Given the description of an element on the screen output the (x, y) to click on. 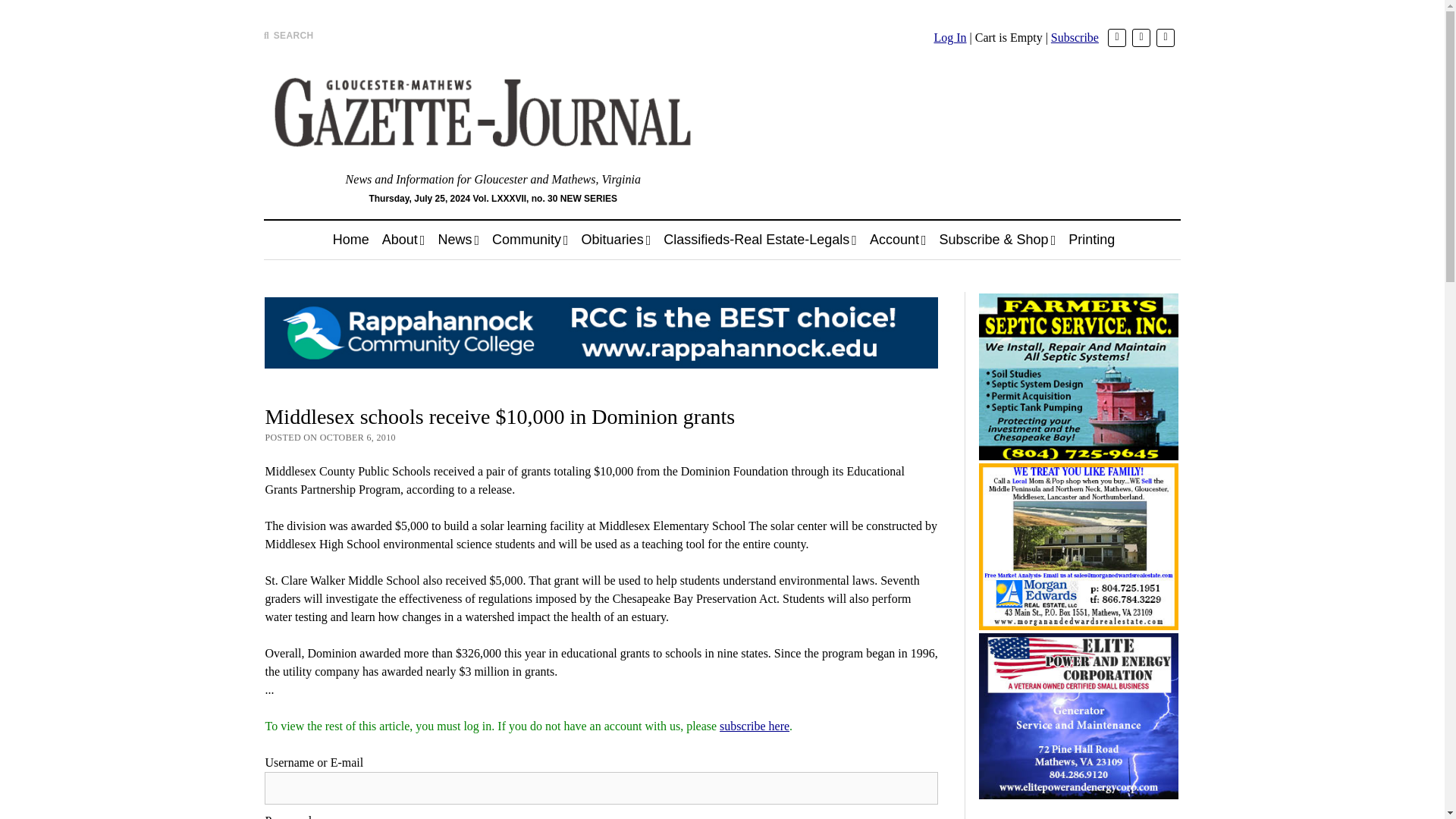
Obituaries (616, 239)
Subscribe (1075, 37)
About (402, 239)
News (457, 239)
twitter (1116, 37)
instagram (1165, 37)
Search (945, 129)
Community (530, 239)
Log In (949, 37)
facebook (1141, 37)
SEARCH (288, 35)
Home (350, 239)
